Given the description of an element on the screen output the (x, y) to click on. 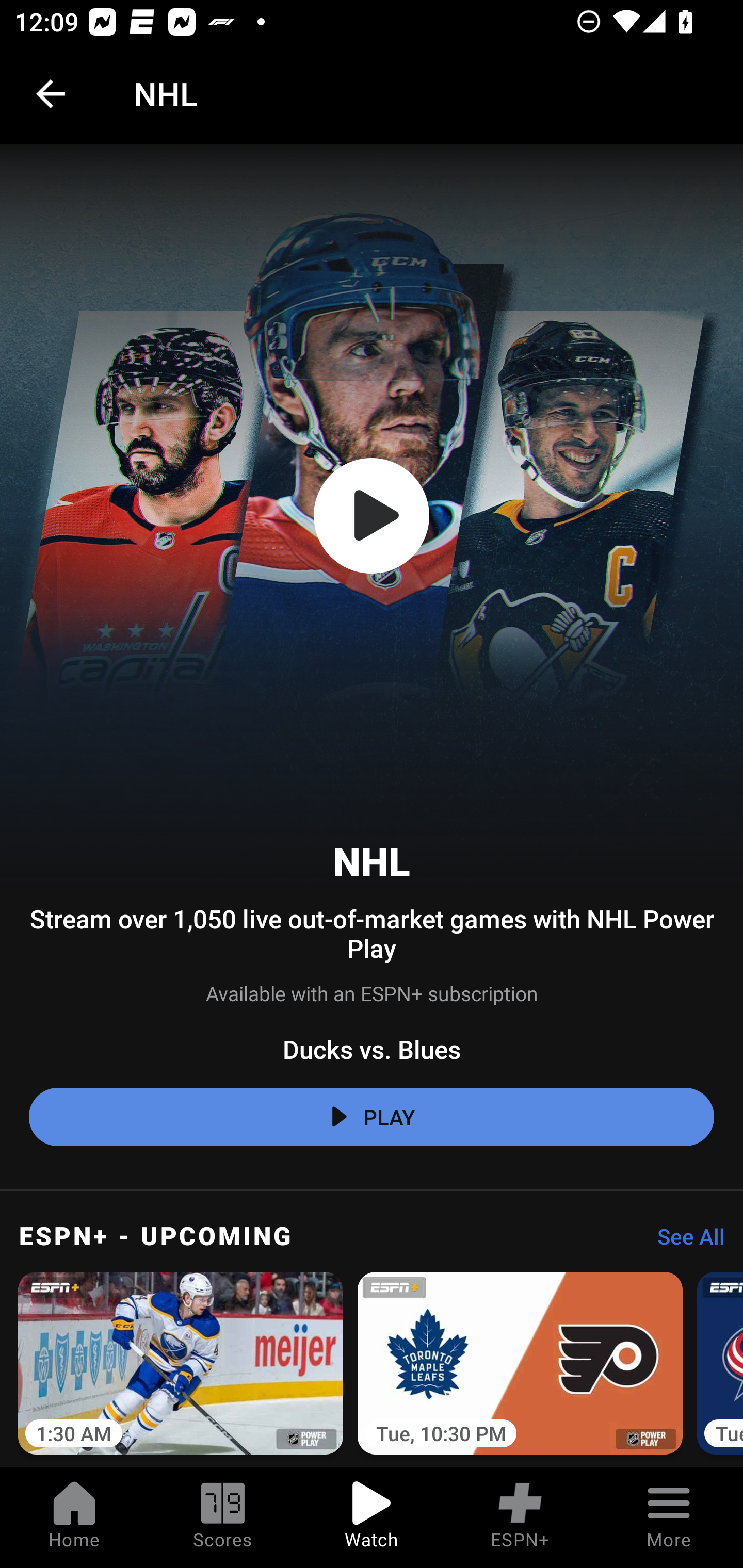
 (371, 515)
PLAY (371, 1117)
See All (683, 1241)
1:30 AM (180, 1366)
Tue, 10:30 PM (519, 1366)
Home (74, 1517)
Scores (222, 1517)
ESPN+ (519, 1517)
More (668, 1517)
